Given the description of an element on the screen output the (x, y) to click on. 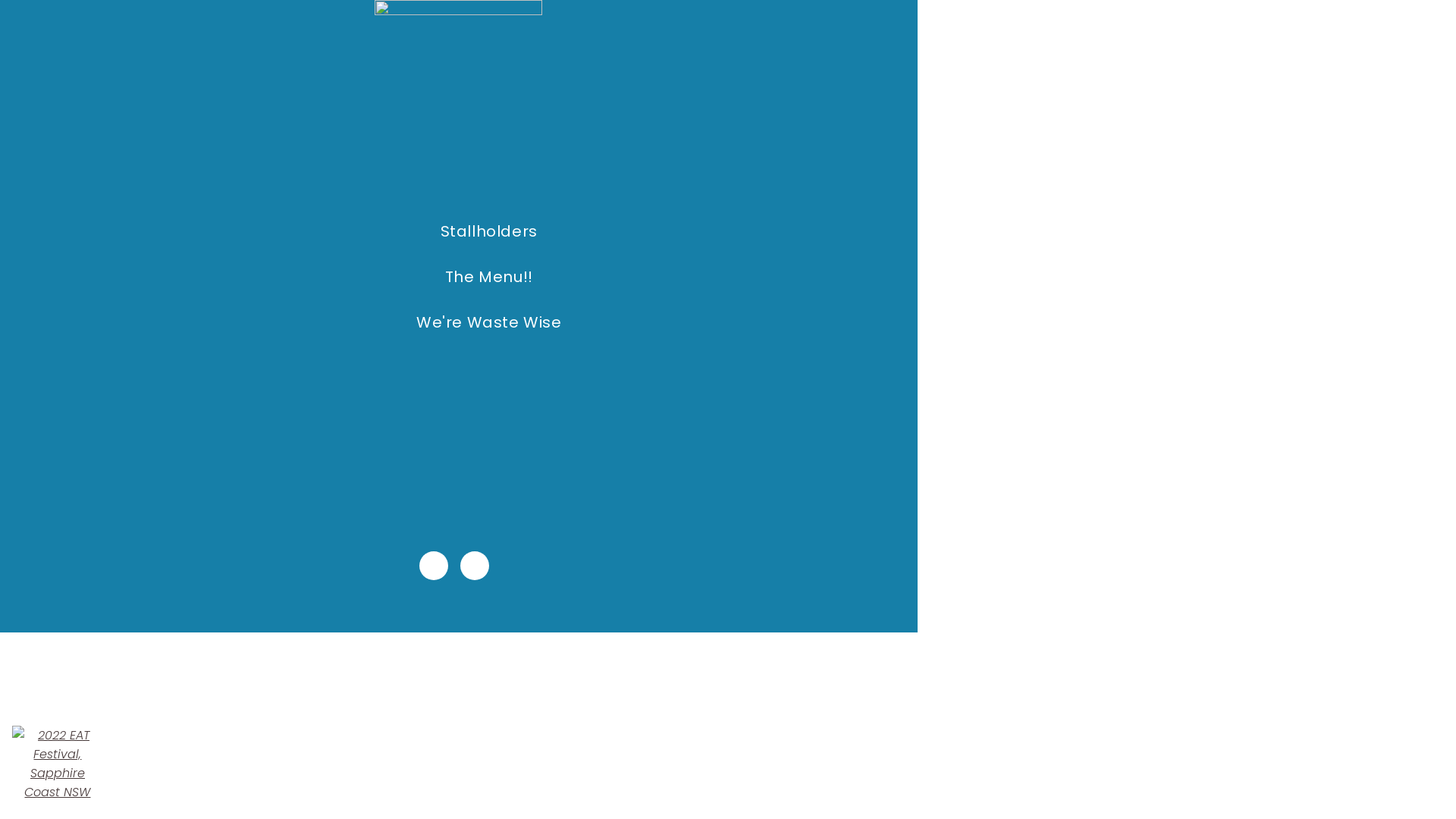
We're Waste Wise Element type: text (488, 322)
Back to home Element type: hover (57, 763)
The Menu!! Element type: text (488, 276)
Stallholders Element type: text (488, 231)
